Given the description of an element on the screen output the (x, y) to click on. 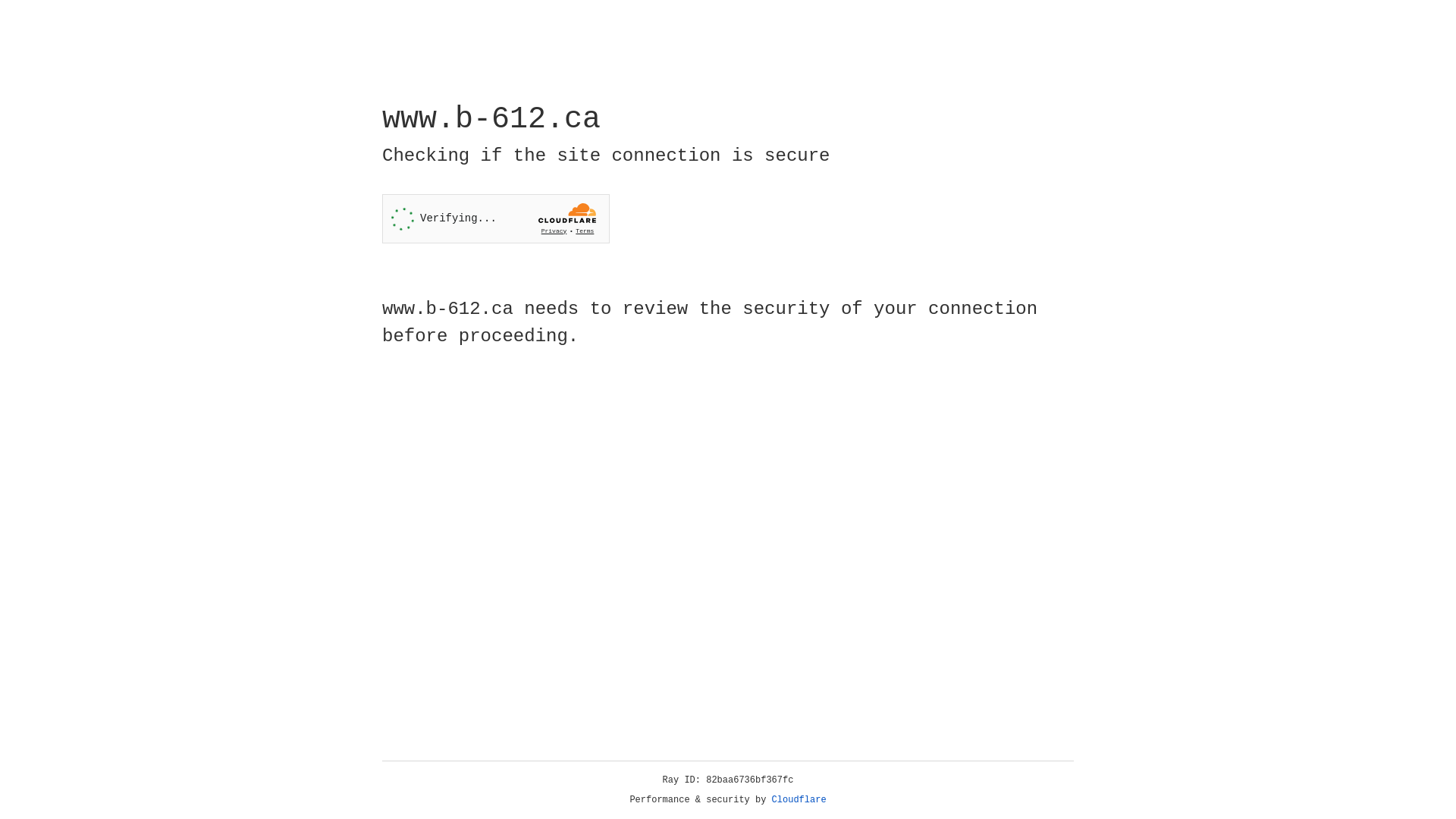
Widget containing a Cloudflare security challenge Element type: hover (495, 218)
Cloudflare Element type: text (798, 799)
